Given the description of an element on the screen output the (x, y) to click on. 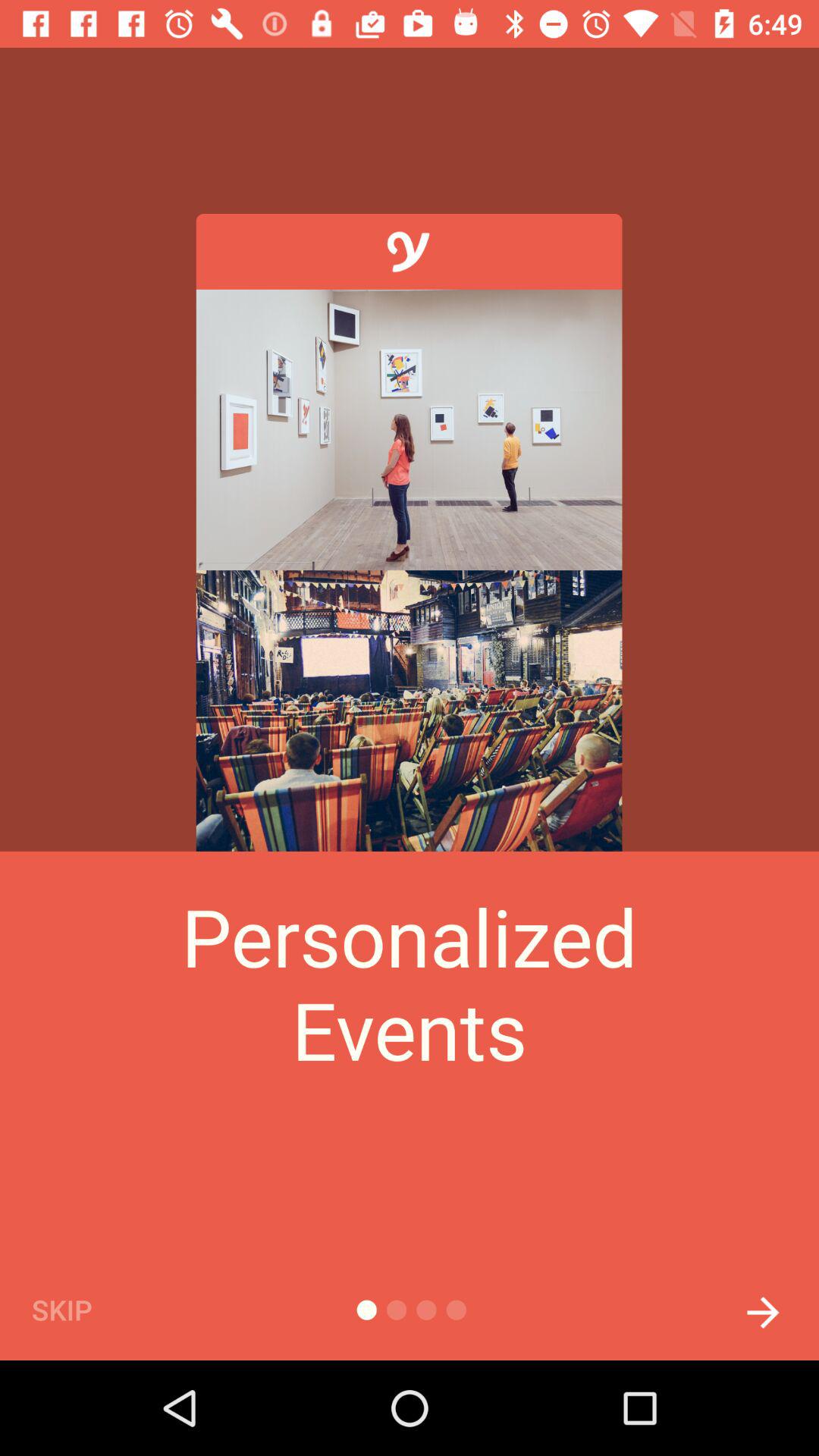
turn on skip at the bottom left corner (87, 1309)
